Given the description of an element on the screen output the (x, y) to click on. 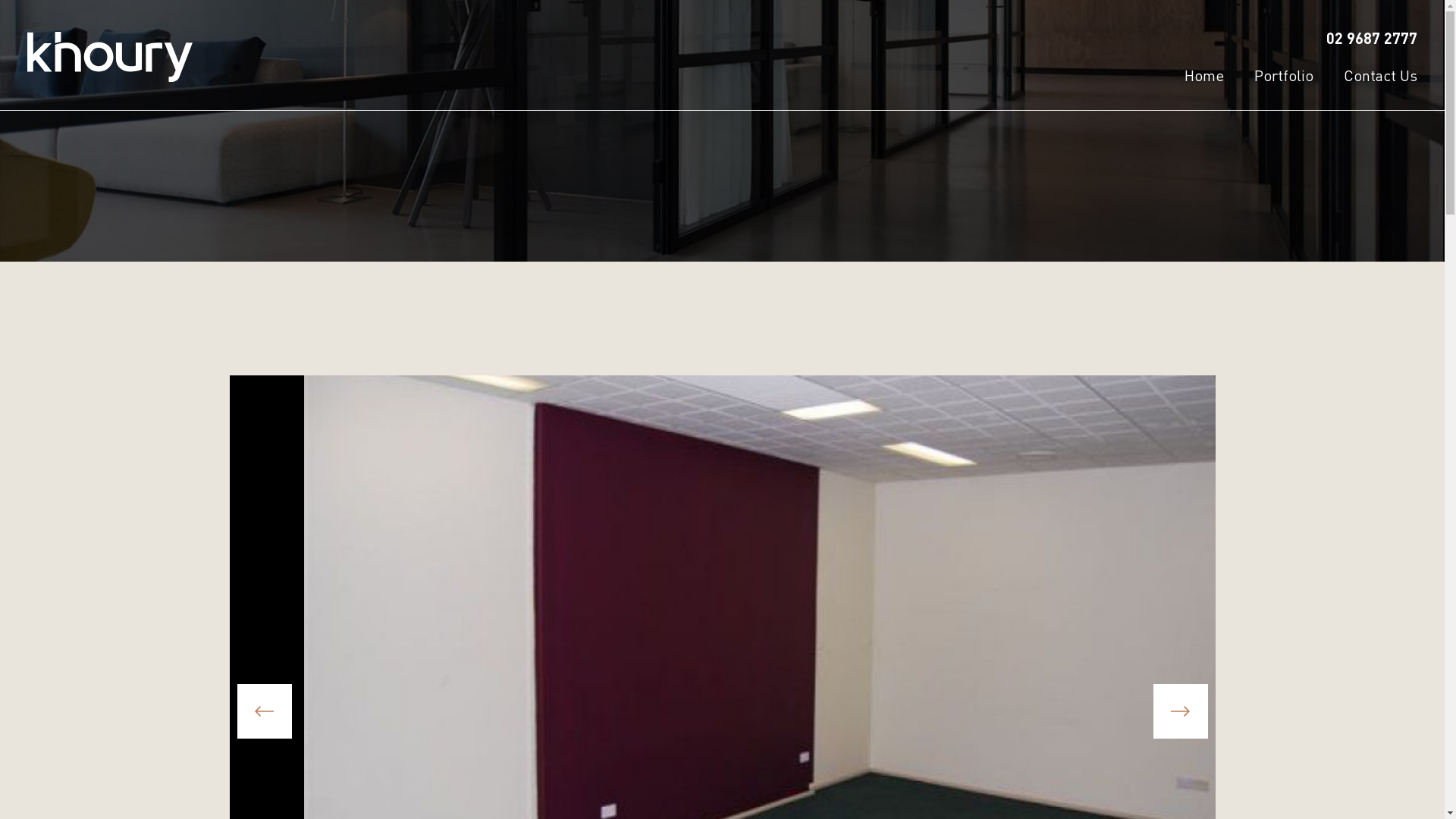
Home Element type: text (1203, 75)
Contact Us Element type: text (1380, 75)
02 9687 2777 Element type: text (1371, 37)
Portfolio Element type: text (1283, 75)
